Given the description of an element on the screen output the (x, y) to click on. 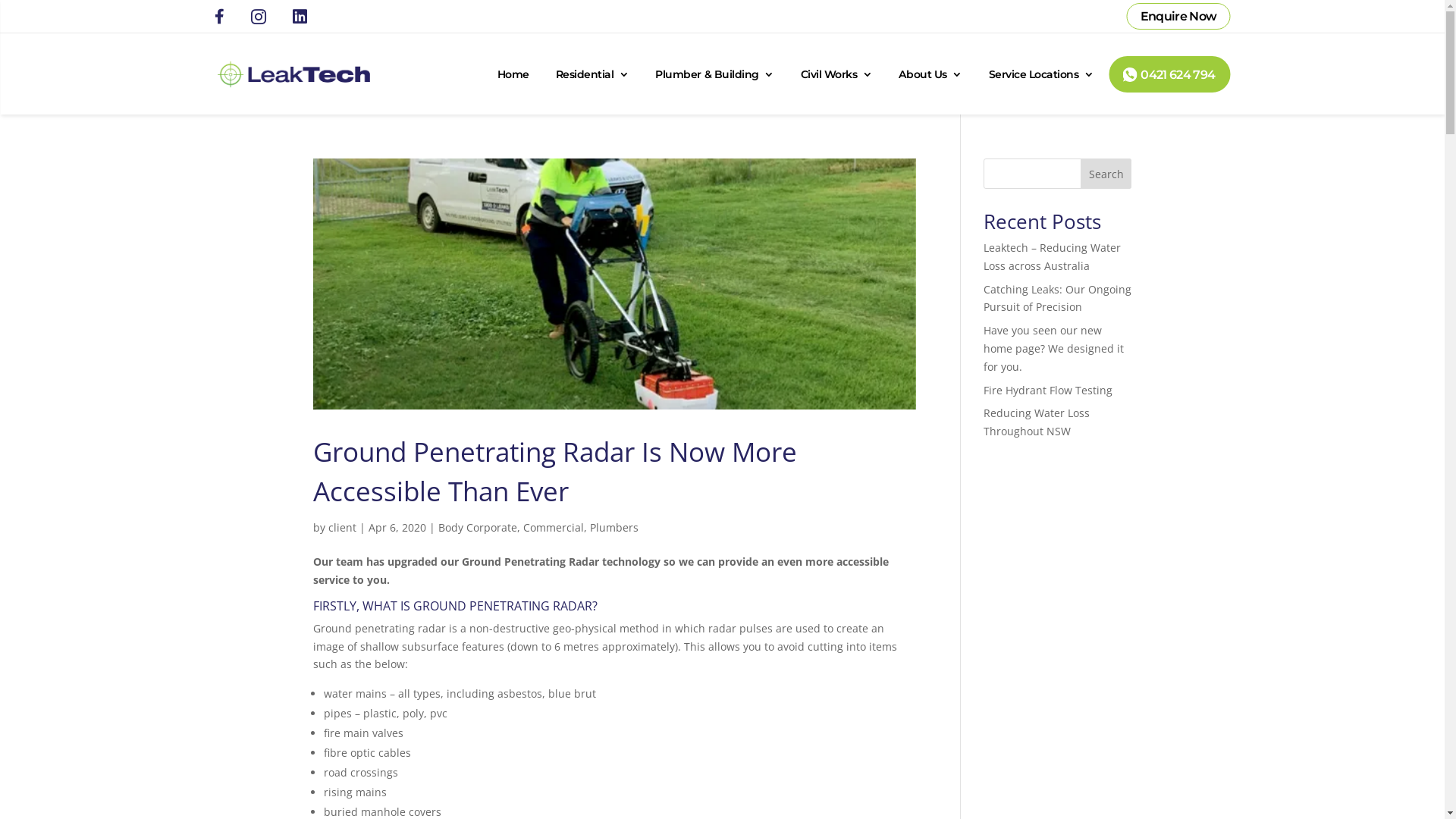
About Us Element type: text (929, 73)
client Element type: text (341, 527)
Have you seen our new home page? We designed it for you. Element type: text (1053, 348)
Commercial Element type: text (553, 527)
Home Element type: text (513, 73)
Ground Penetrating Radar Is Now More Accessible Than Ever Element type: text (554, 470)
Enquire Now Element type: text (1178, 16)
Plumber & Building Element type: text (714, 73)
Catching Leaks: Our Ongoing Pursuit of Precision Element type: text (1057, 298)
Residential Element type: text (592, 73)
Search Element type: text (1106, 173)
Plumbers Element type: text (613, 527)
Body Corporate Element type: text (477, 527)
Fire Hydrant Flow Testing Element type: text (1047, 389)
Civil Works Element type: text (836, 73)
Reducing Water Loss Throughout NSW Element type: text (1036, 421)
Service Locations Element type: text (1041, 73)
0421 624 794 Element type: text (1169, 74)
